Given the description of an element on the screen output the (x, y) to click on. 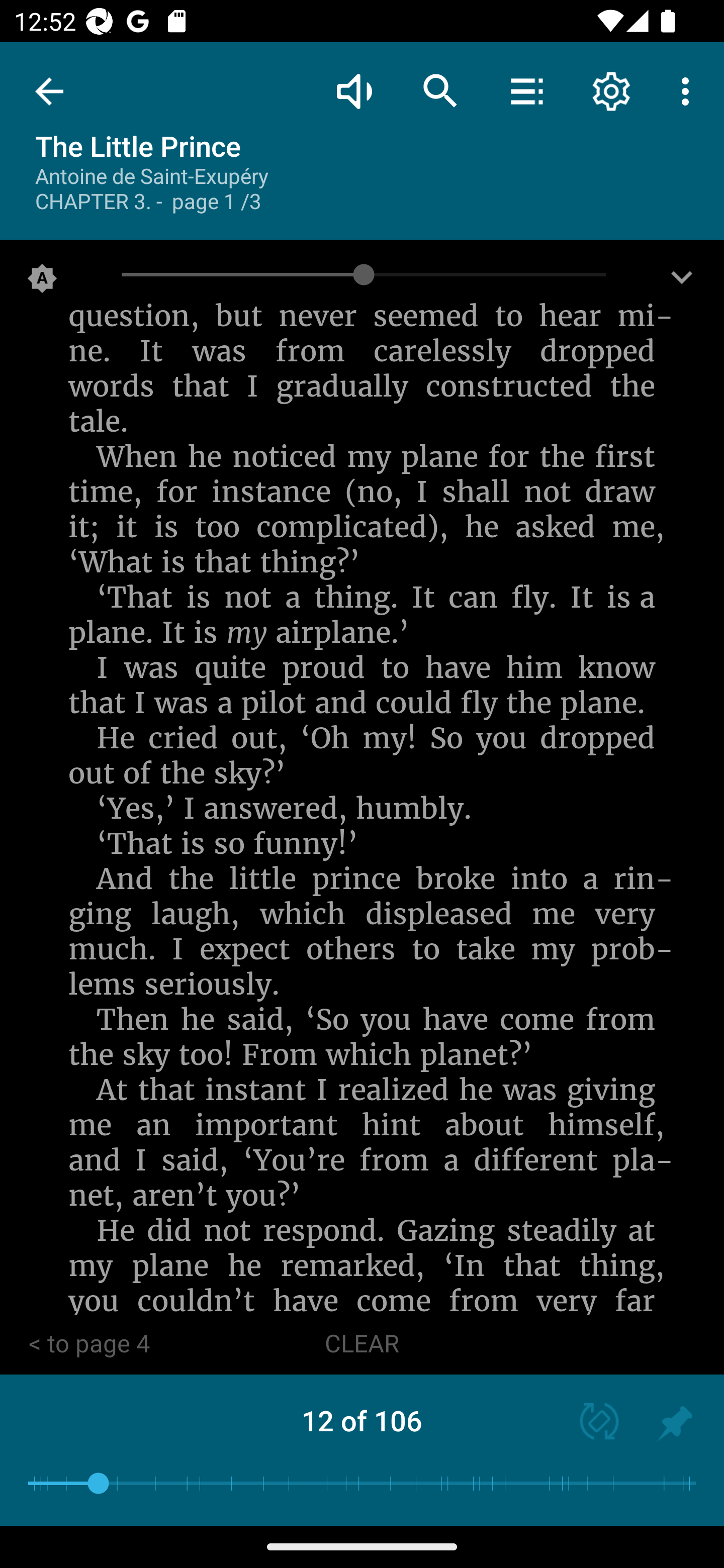
Exit reading (49, 91)
Read aloud (354, 90)
Text search (440, 90)
Contents / Bookmarks / Quotes (526, 90)
Reading settings (611, 90)
More options (688, 90)
Selected screen brightness (42, 281)
Screen brightness settings (681, 281)
< to page 4 (89, 1344)
CLEAR (361, 1344)
12 of 106 (361, 1420)
Screen orientation (590, 1423)
Add to history (674, 1423)
